Given the description of an element on the screen output the (x, y) to click on. 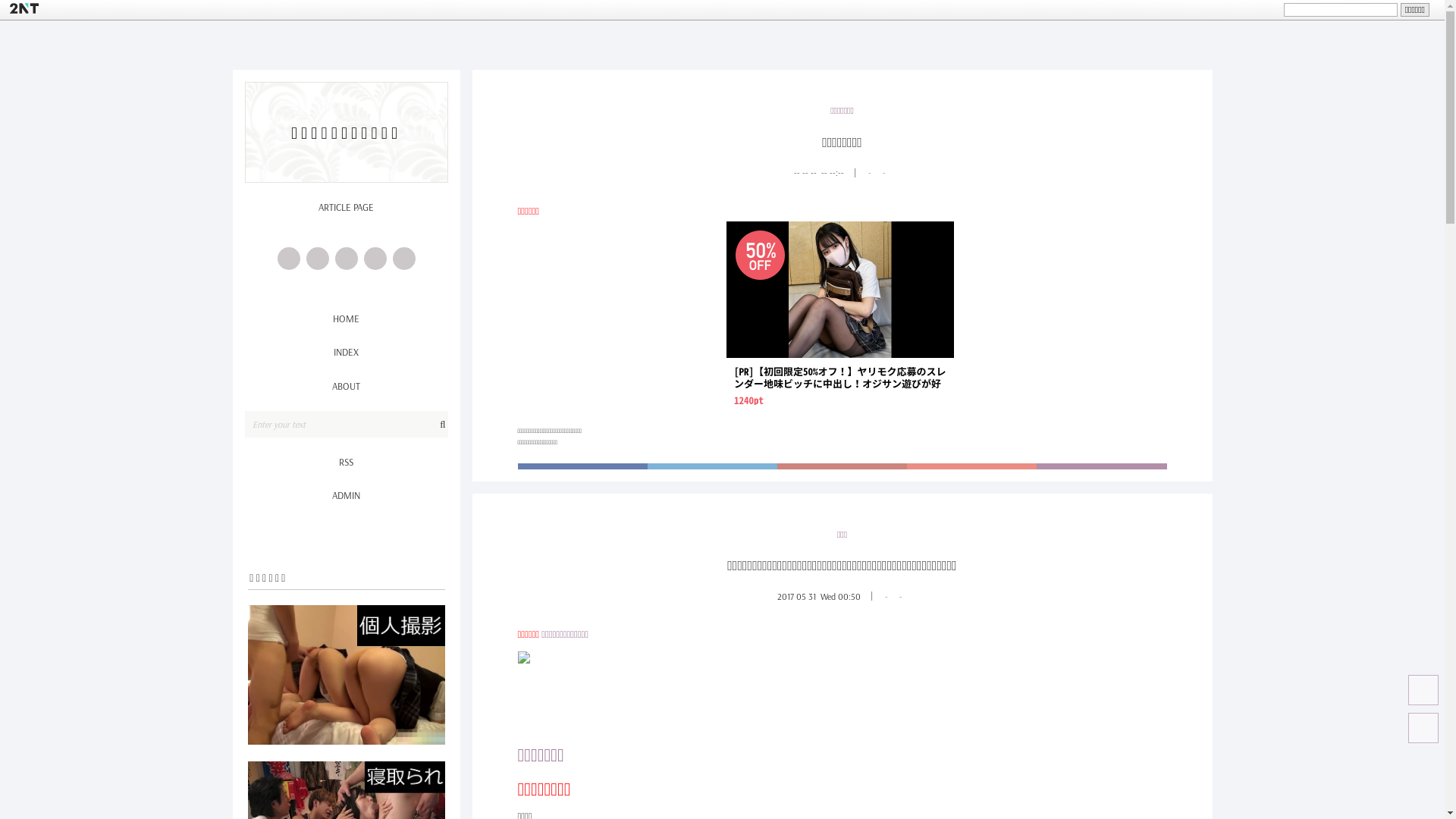
 - Element type: text (885, 596)
Only for admin Element type: hover (1101, 466)
Tweet on Twitter Element type: hover (712, 466)
INDEX Element type: text (345, 351)
Pin it on Pinterest Element type: hover (841, 466)
Share on Google+ Element type: hover (971, 466)
 - Element type: text (899, 596)
Share on Facebook Element type: hover (581, 466)
ADMIN Element type: text (346, 495)
HOME Element type: text (345, 318)
ABOUT Element type: text (346, 385)
RSS Element type: text (345, 461)
 - Element type: text (868, 172)
 - Element type: text (882, 172)
